Given the description of an element on the screen output the (x, y) to click on. 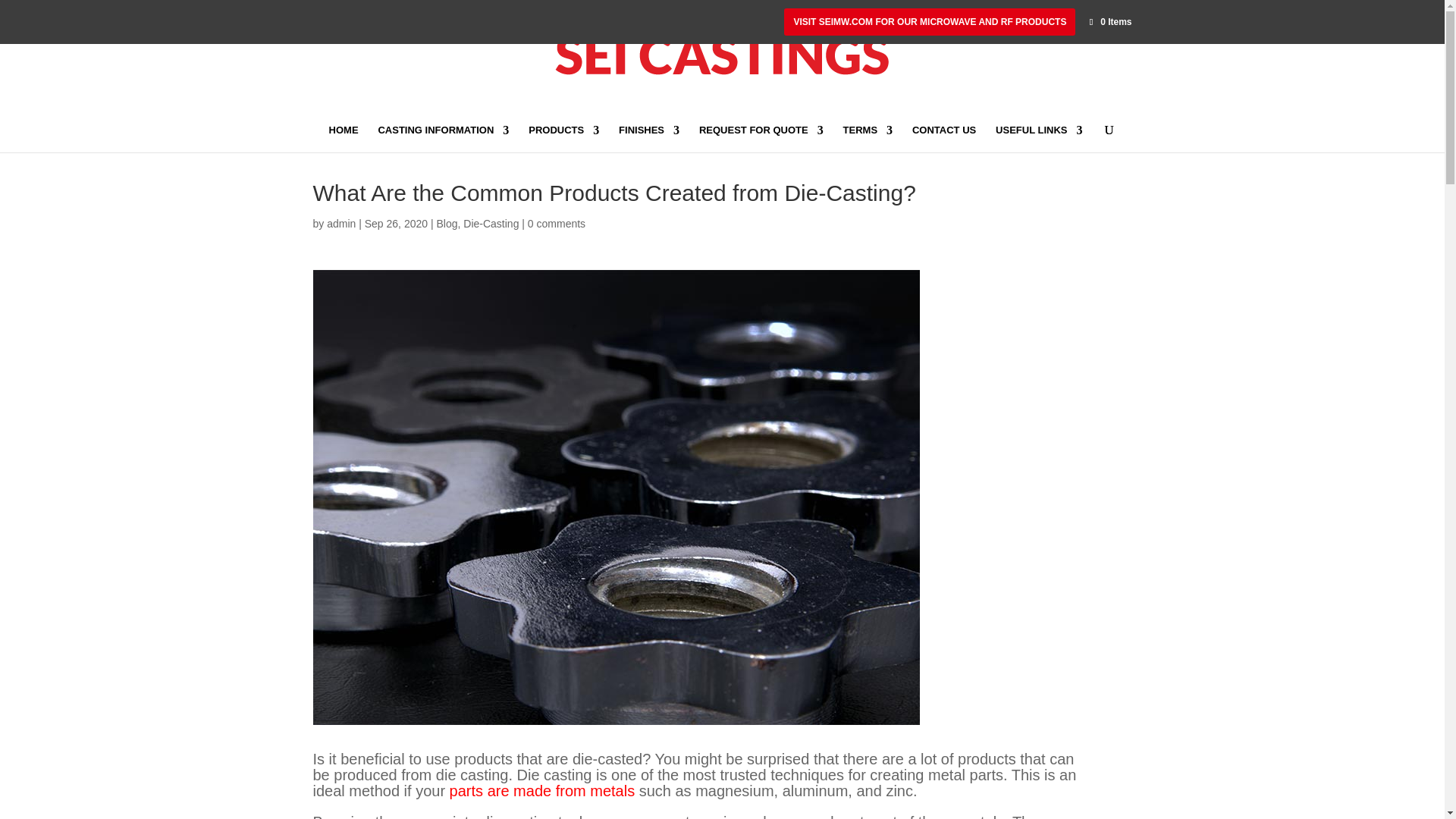
PRODUCTS (563, 138)
VISIT SEIMW.COM FOR OUR MICROWAVE AND RF PRODUCTS (929, 22)
REQUEST FOR QUOTE (761, 138)
CASTING INFORMATION (442, 138)
0 Items (1108, 21)
HOME (343, 138)
FINISHES (648, 138)
Posts by admin (340, 223)
